Given the description of an element on the screen output the (x, y) to click on. 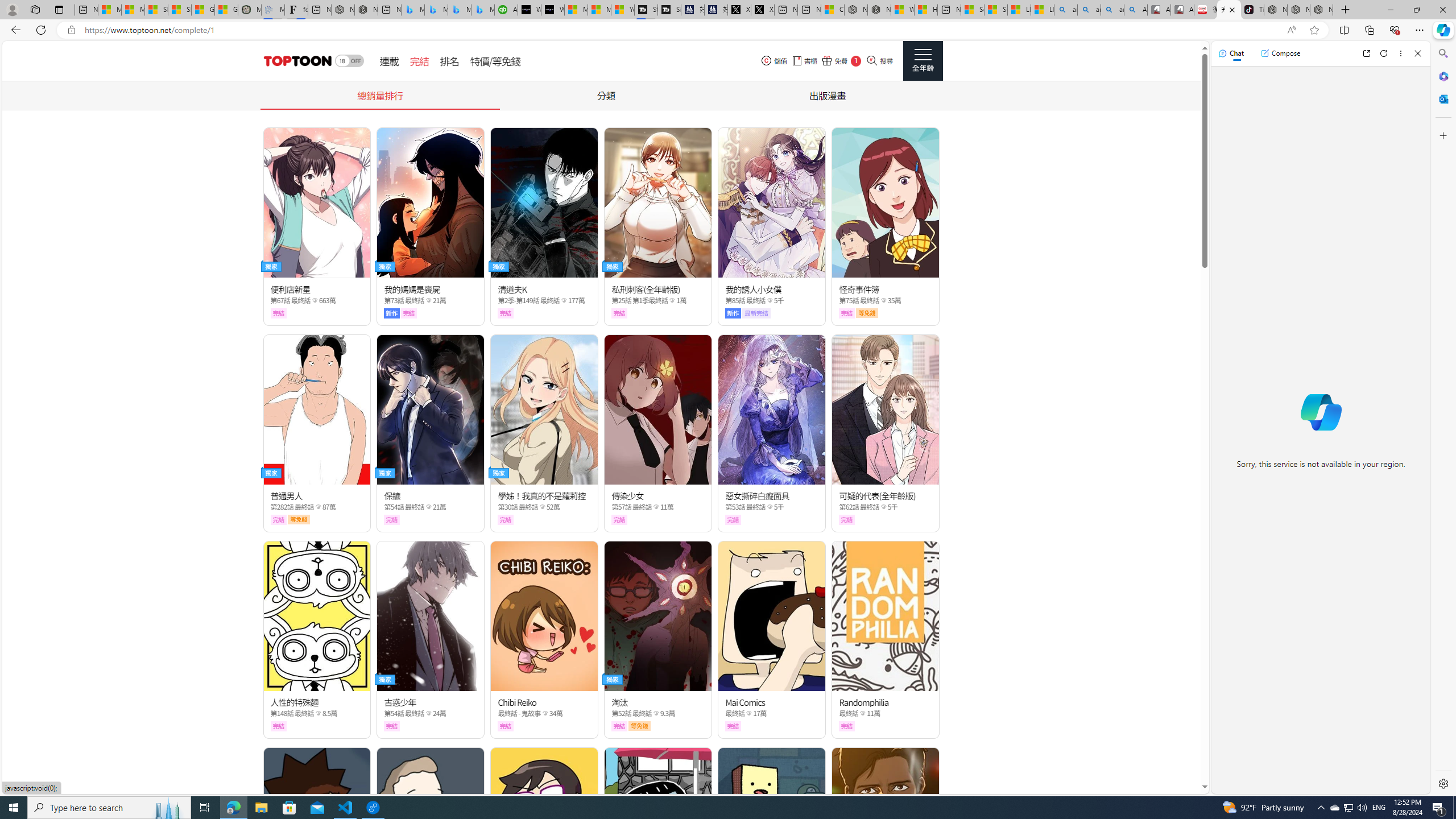
Microsoft Bing Travel - Stays in Bangkok, Bangkok, Thailand (435, 9)
